Given the description of an element on the screen output the (x, y) to click on. 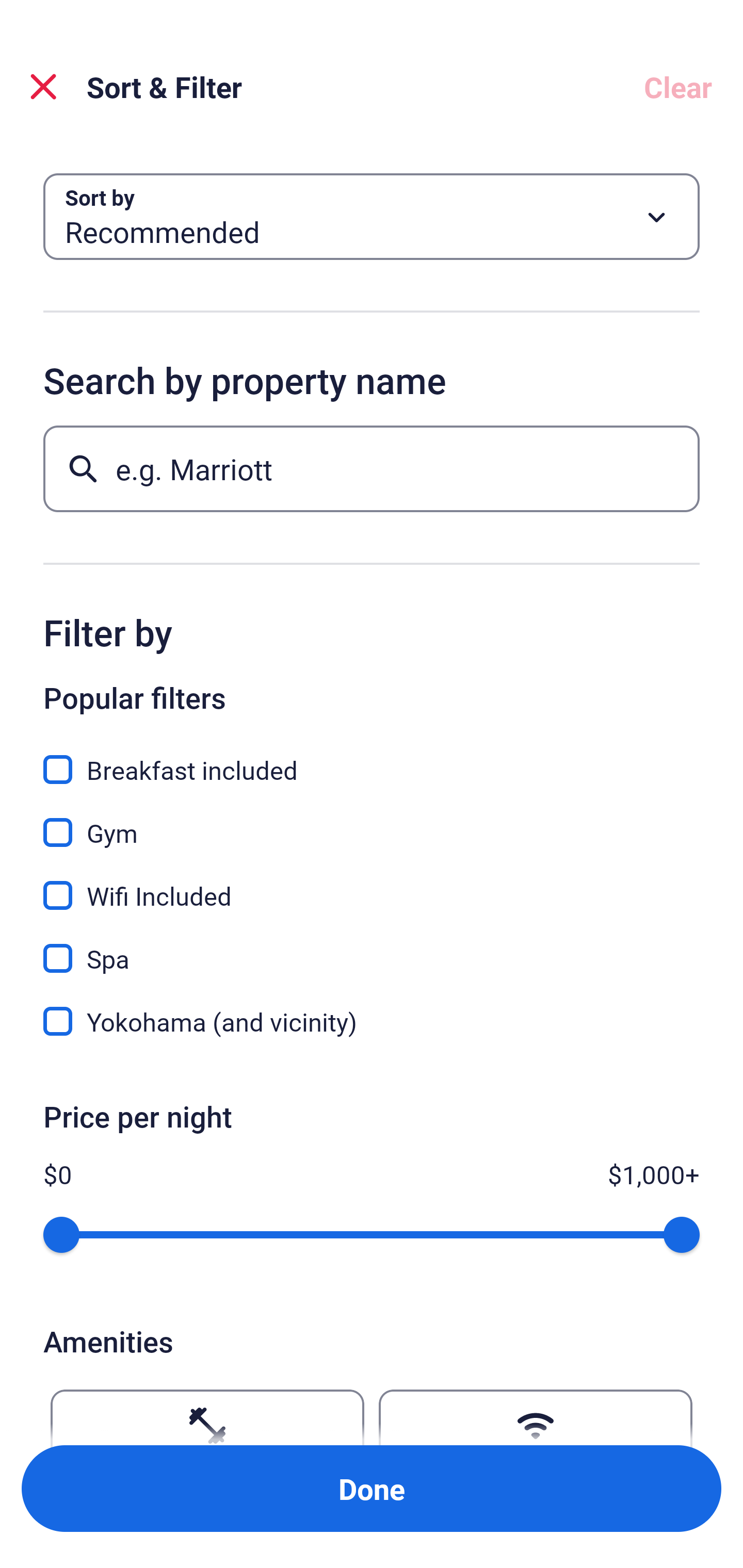
Close Sort and Filter (43, 86)
Clear (677, 86)
Sort by Button Recommended (371, 217)
e.g. Marriott Button (371, 468)
Breakfast included, Breakfast included (371, 757)
Gym, Gym (371, 821)
Wifi Included, Wifi Included (371, 883)
Spa, Spa (371, 946)
Yokohama (and vicinity), Yokohama (and vicinity) (371, 1021)
Apply and close Sort and Filter Done (371, 1488)
